Given the description of an element on the screen output the (x, y) to click on. 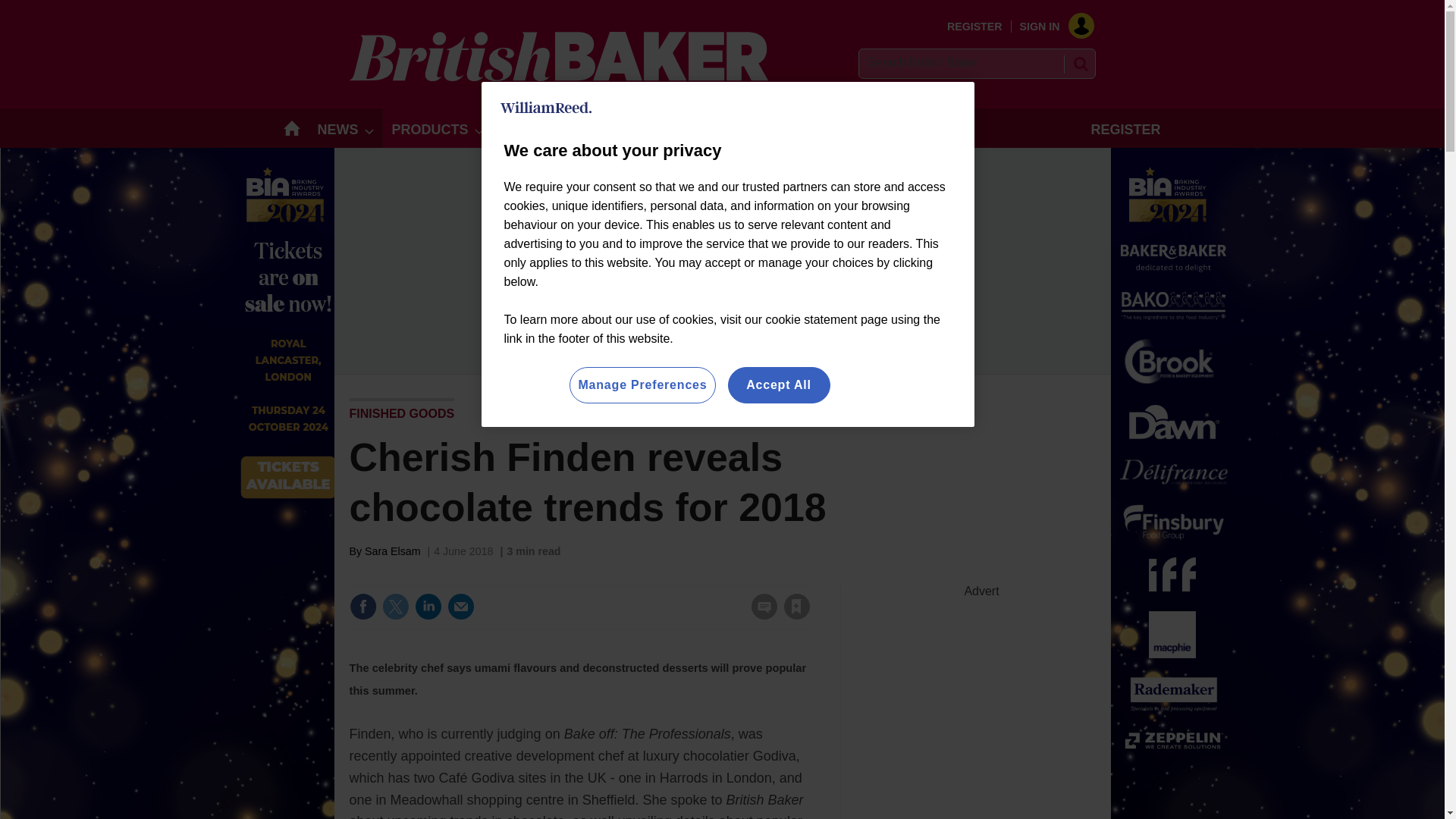
Site name (558, 76)
REGISTER (975, 26)
Email this article (460, 605)
No comments (759, 615)
Share this on Twitter (395, 605)
SEARCH (1079, 63)
Share this on Facebook (362, 605)
William Reed (545, 107)
3rd party ad content (980, 692)
SIGN IN (1051, 26)
Share this on Linked in (427, 605)
